Given the description of an element on the screen output the (x, y) to click on. 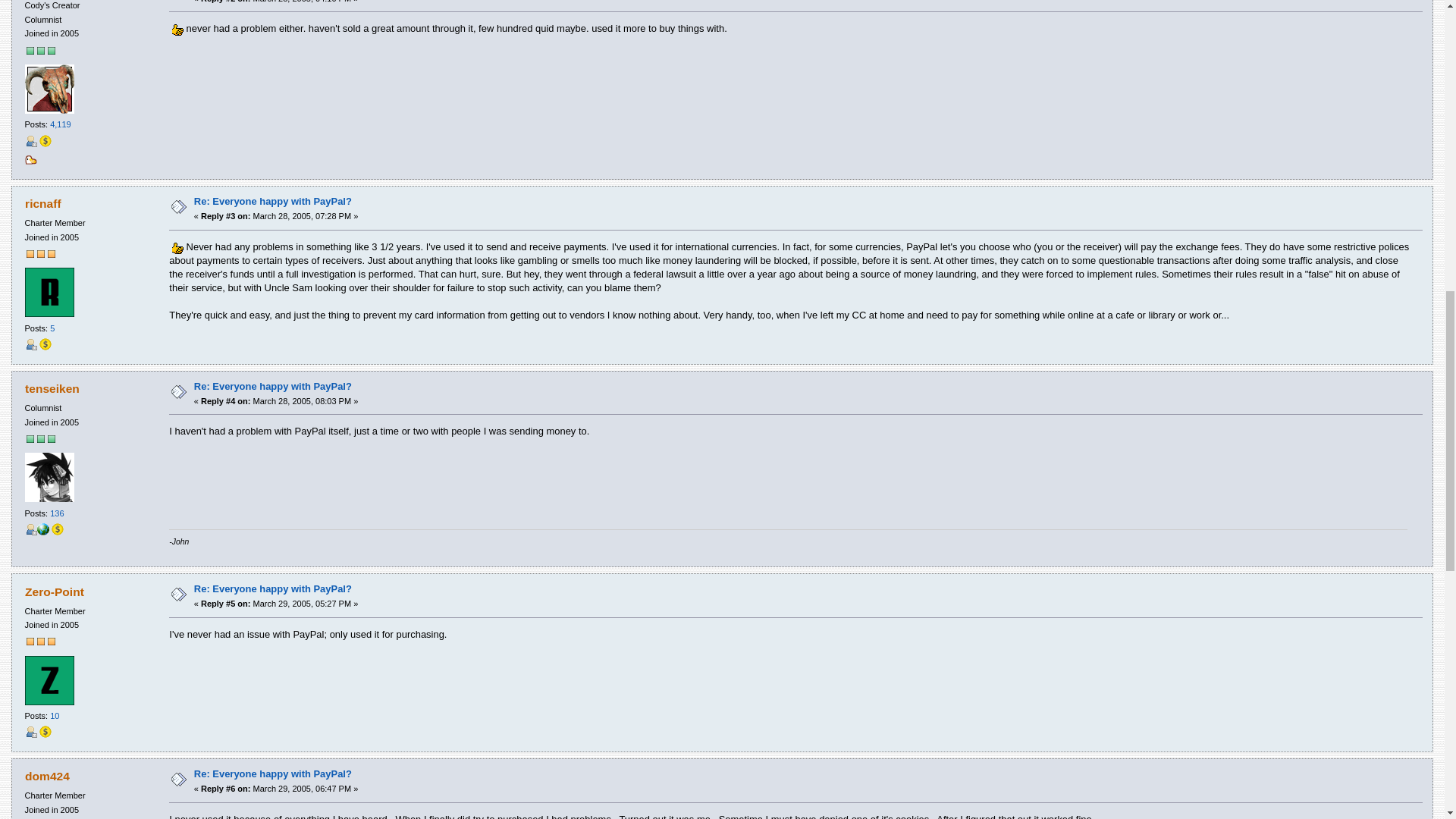
View Profile (30, 141)
